Given the description of an element on the screen output the (x, y) to click on. 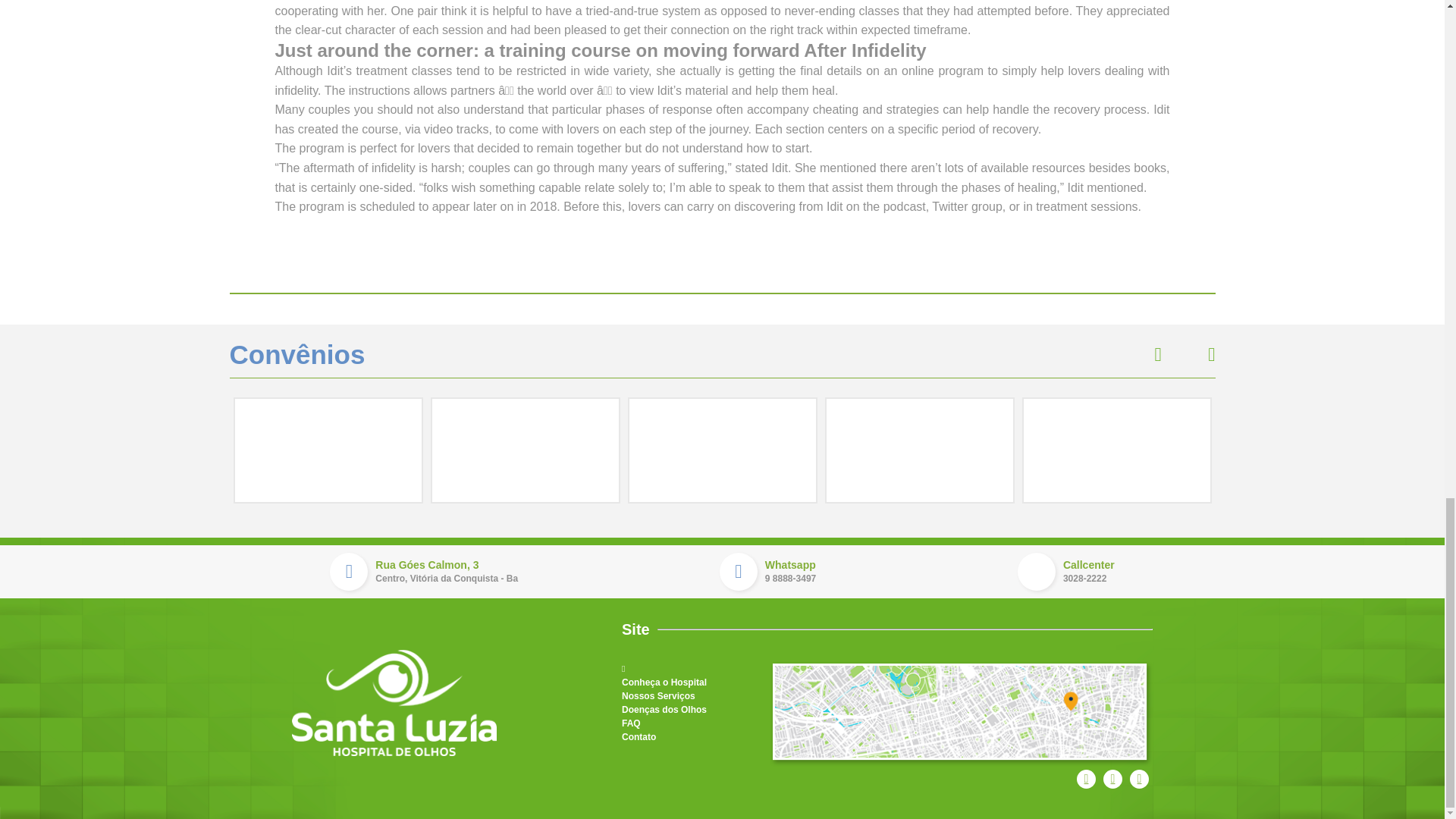
Contato (638, 737)
FAQ (630, 723)
